Given the description of an element on the screen output the (x, y) to click on. 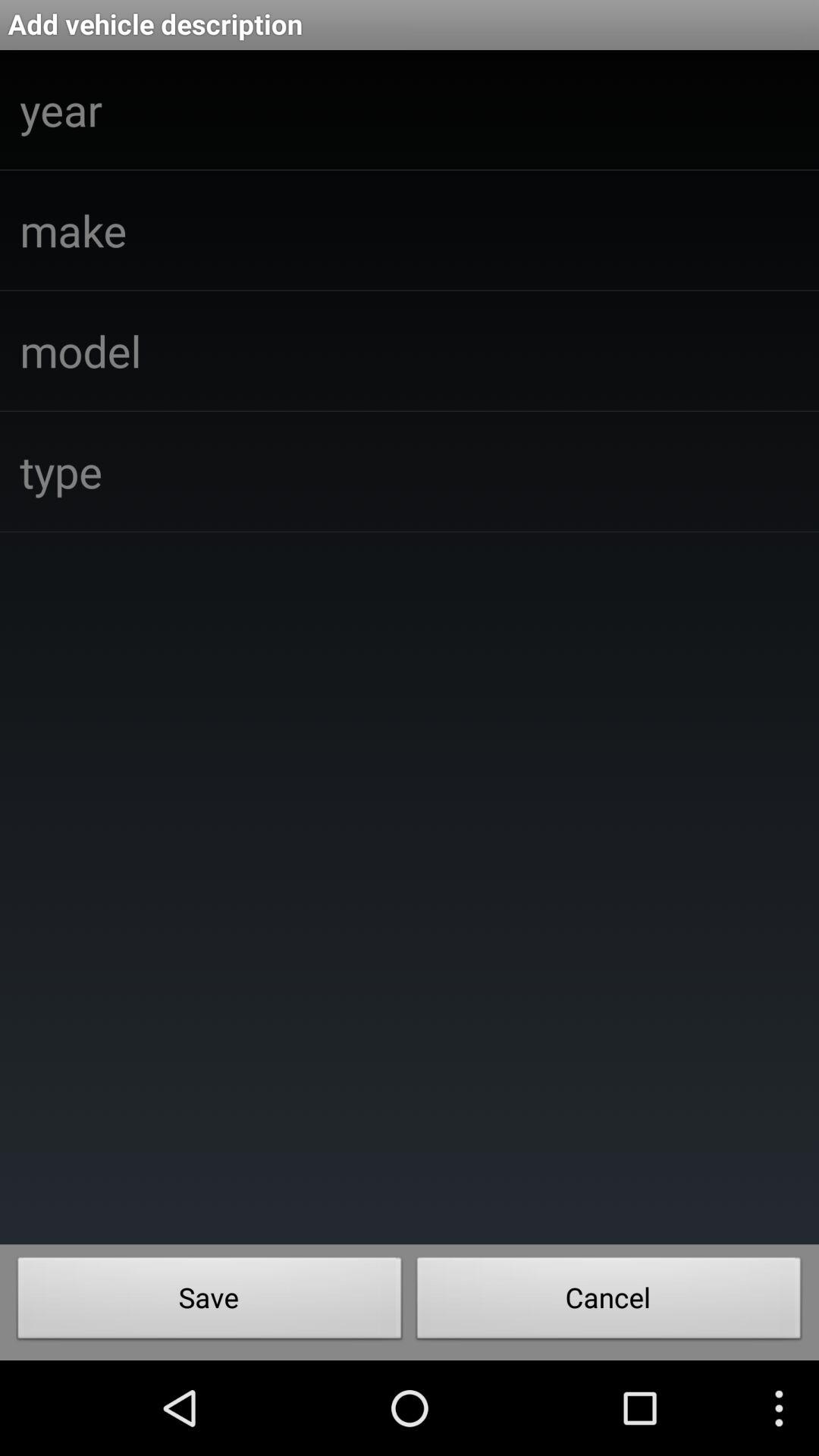
select save icon (209, 1302)
